Given the description of an element on the screen output the (x, y) to click on. 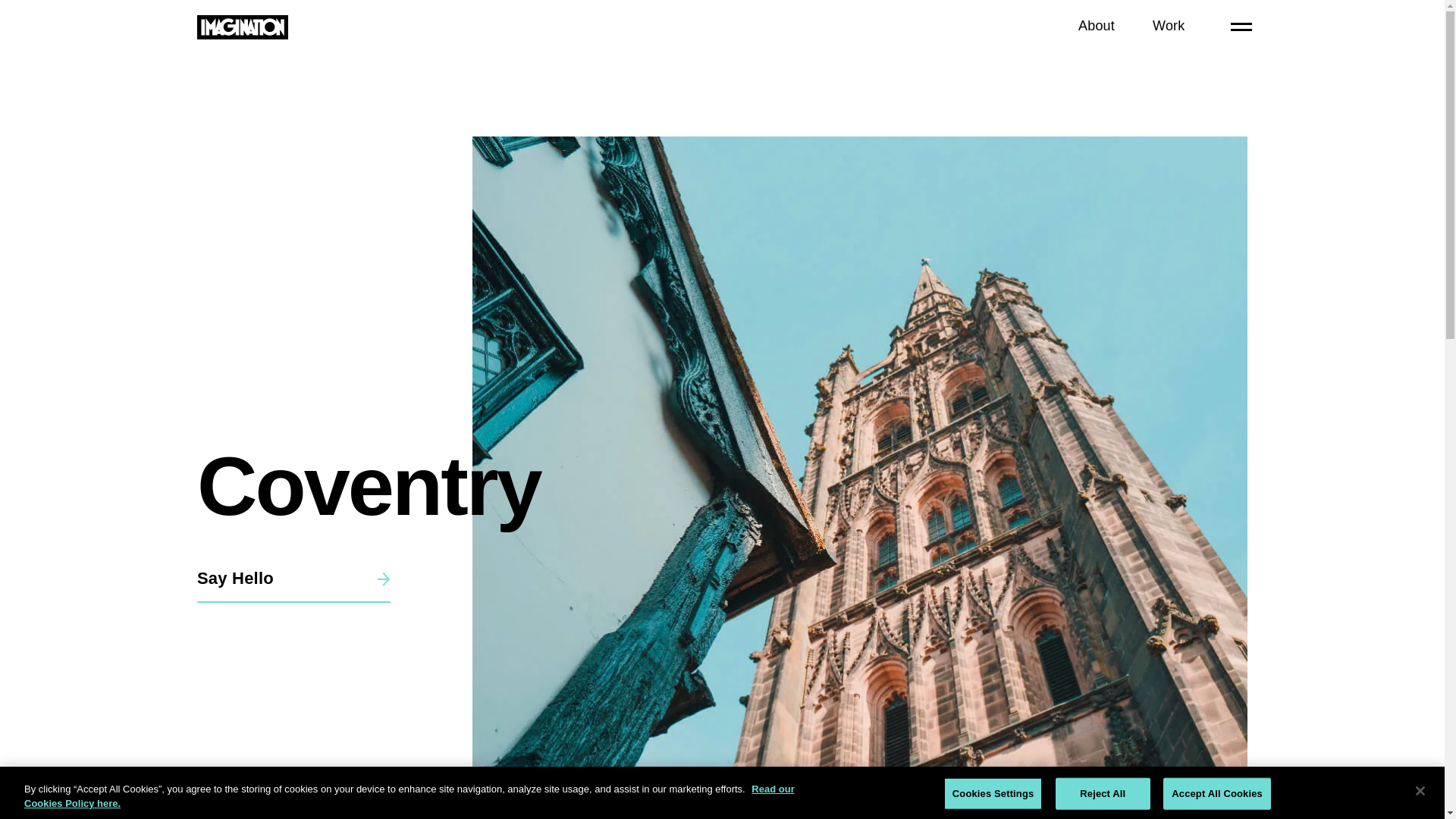
About (1096, 26)
Work (1169, 26)
